Given the description of an element on the screen output the (x, y) to click on. 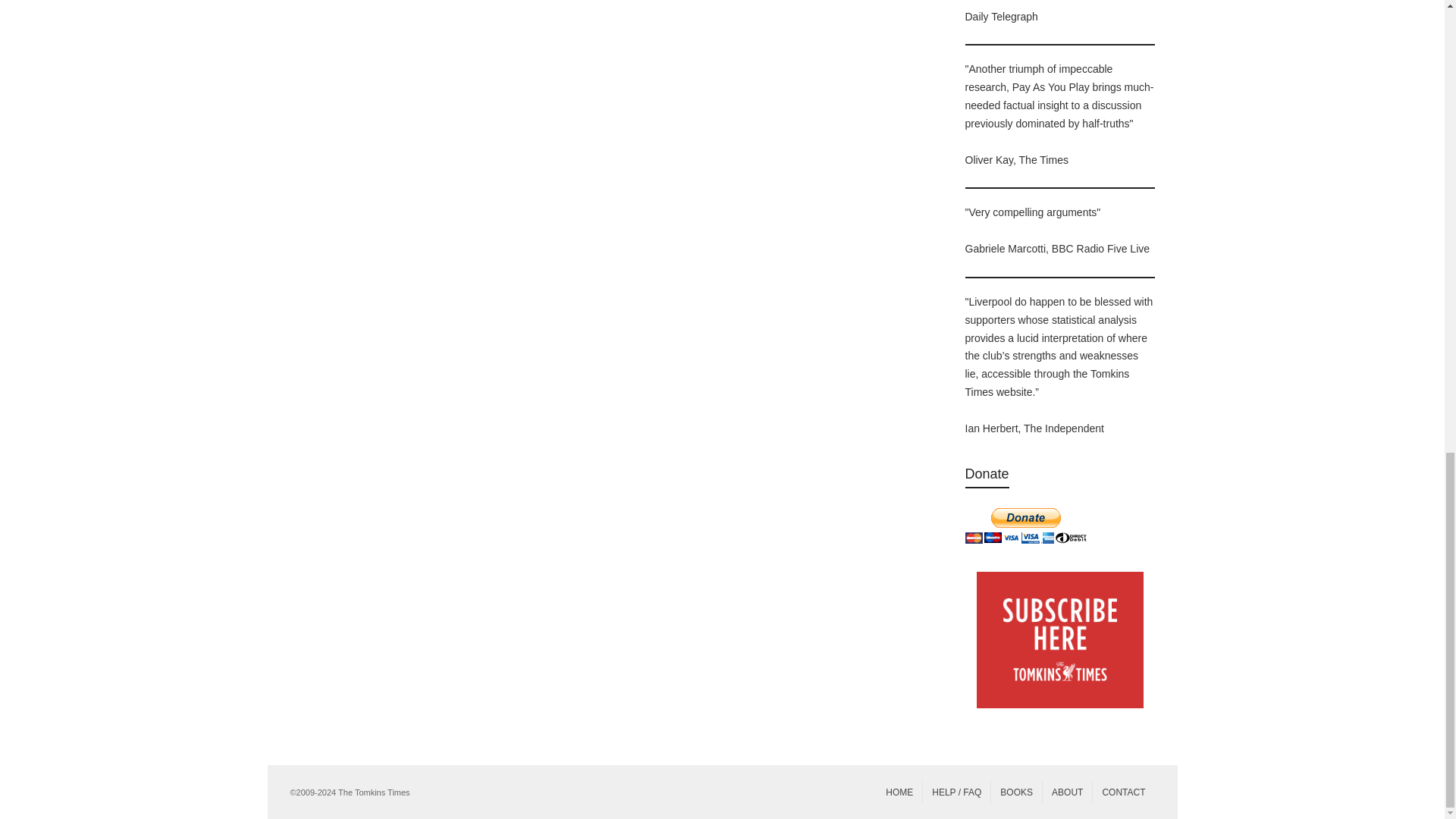
HOME (898, 792)
BOOKS (1016, 792)
CONTACT (1123, 792)
ABOUT (1067, 792)
